Given the description of an element on the screen output the (x, y) to click on. 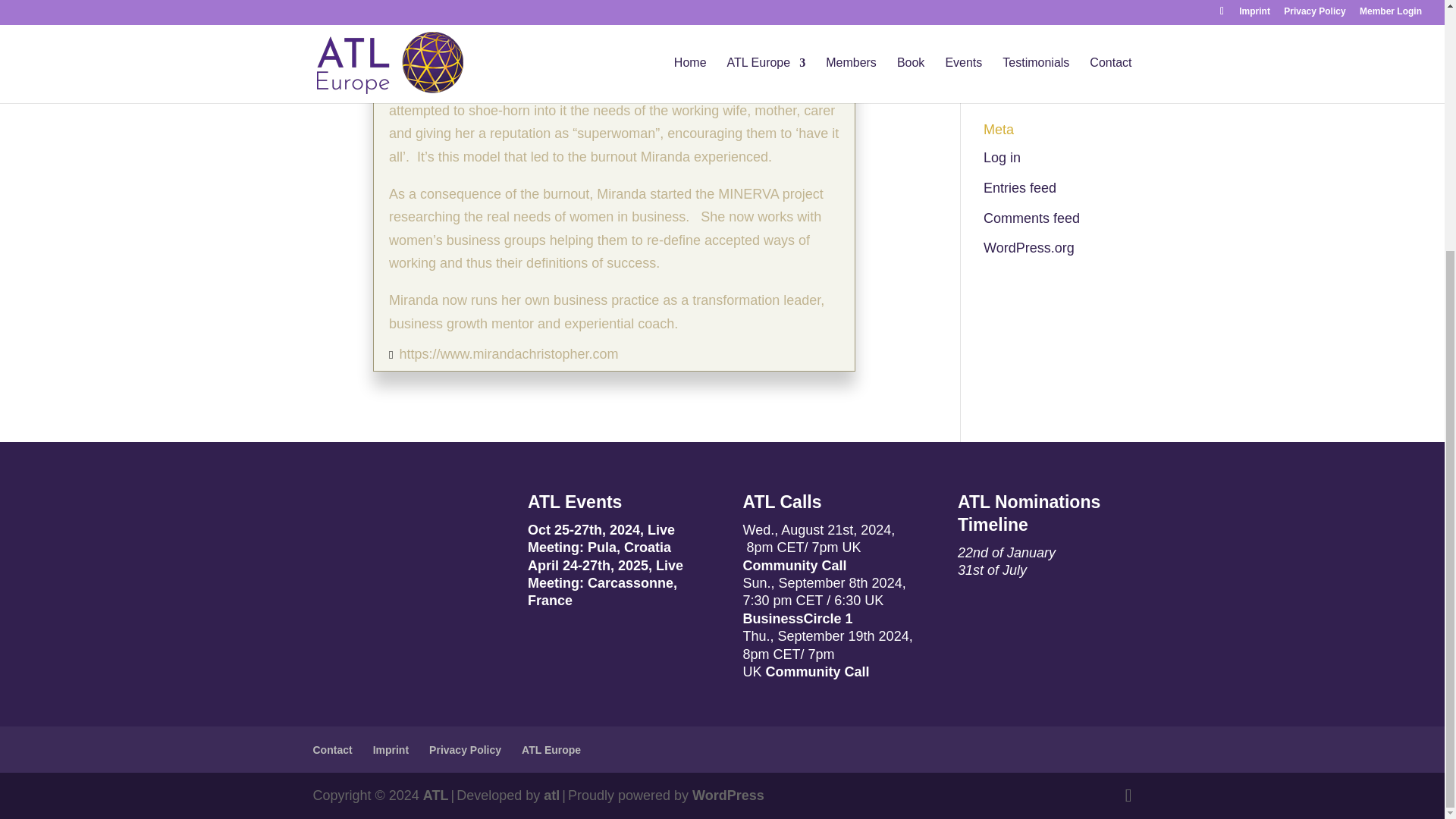
Entries feed (1020, 187)
Comments feed (1032, 218)
Privacy Policy (464, 749)
atl (551, 795)
Log in (1002, 157)
WordPress (728, 795)
Contact (332, 749)
Imprint (390, 749)
ATL Europe (550, 749)
WordPress.org (1029, 247)
ATL (435, 795)
